Given the description of an element on the screen output the (x, y) to click on. 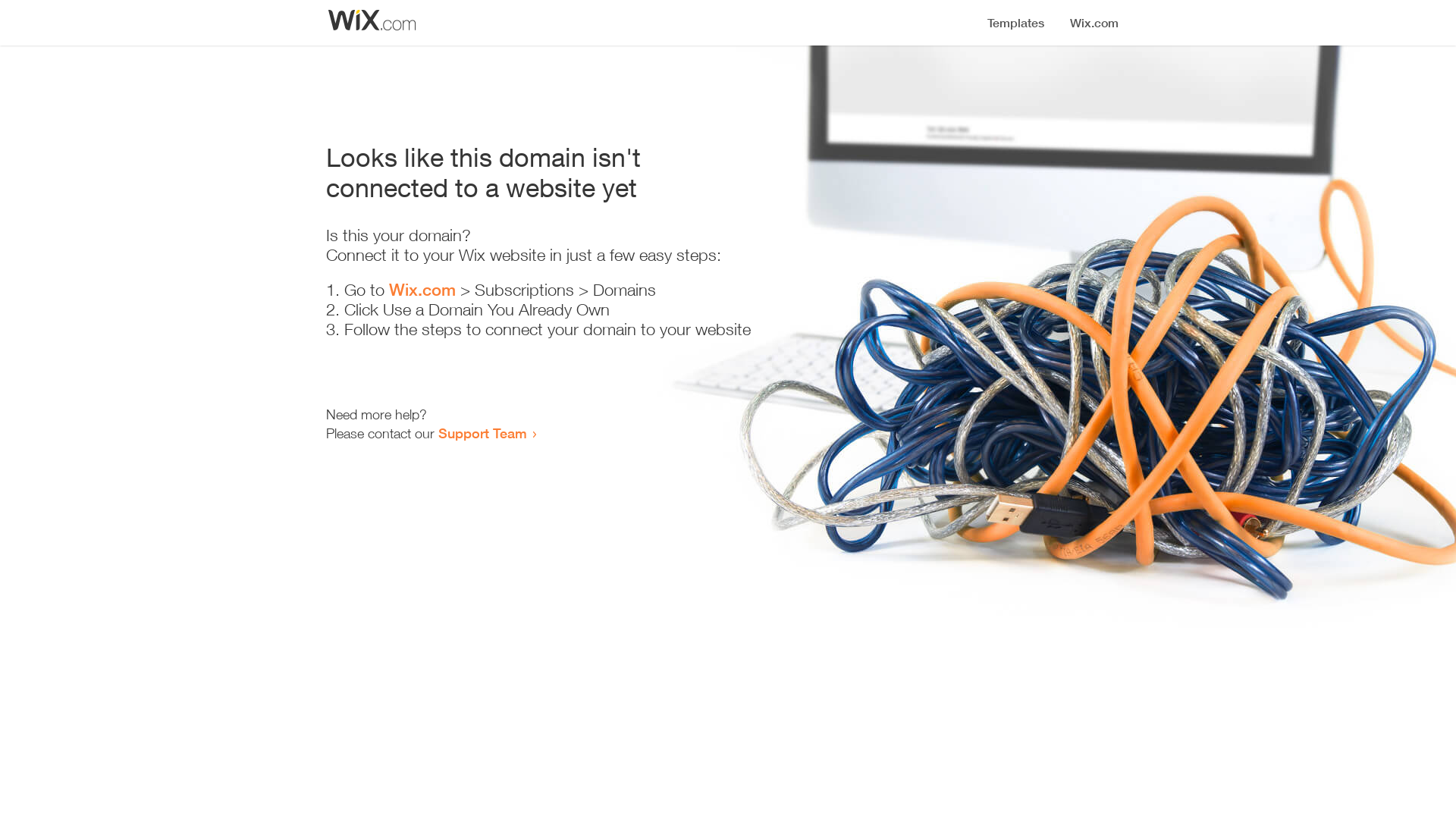
Support Team Element type: text (482, 432)
Wix.com Element type: text (422, 289)
